Given the description of an element on the screen output the (x, y) to click on. 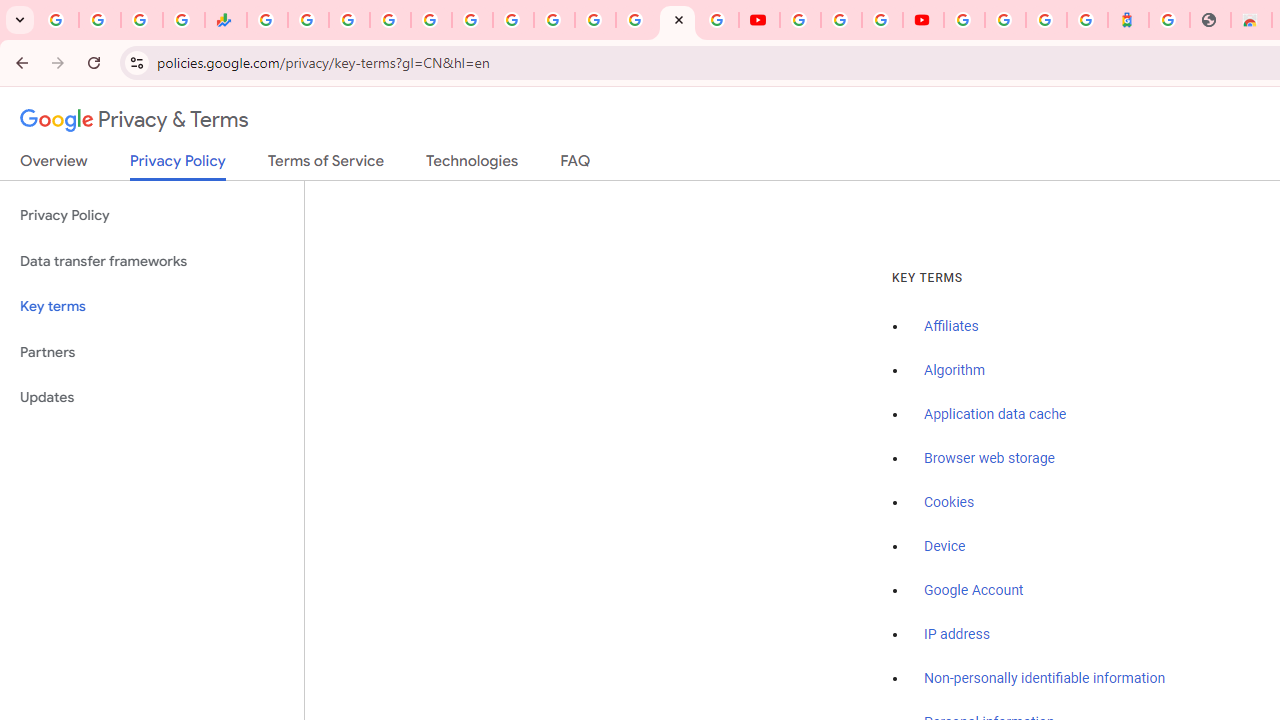
Privacy & Terms (134, 120)
Sign in - Google Accounts (964, 20)
Affiliates (951, 327)
Data transfer frameworks (152, 261)
Sign in - Google Accounts (389, 20)
Application data cache (995, 415)
